Given the description of an element on the screen output the (x, y) to click on. 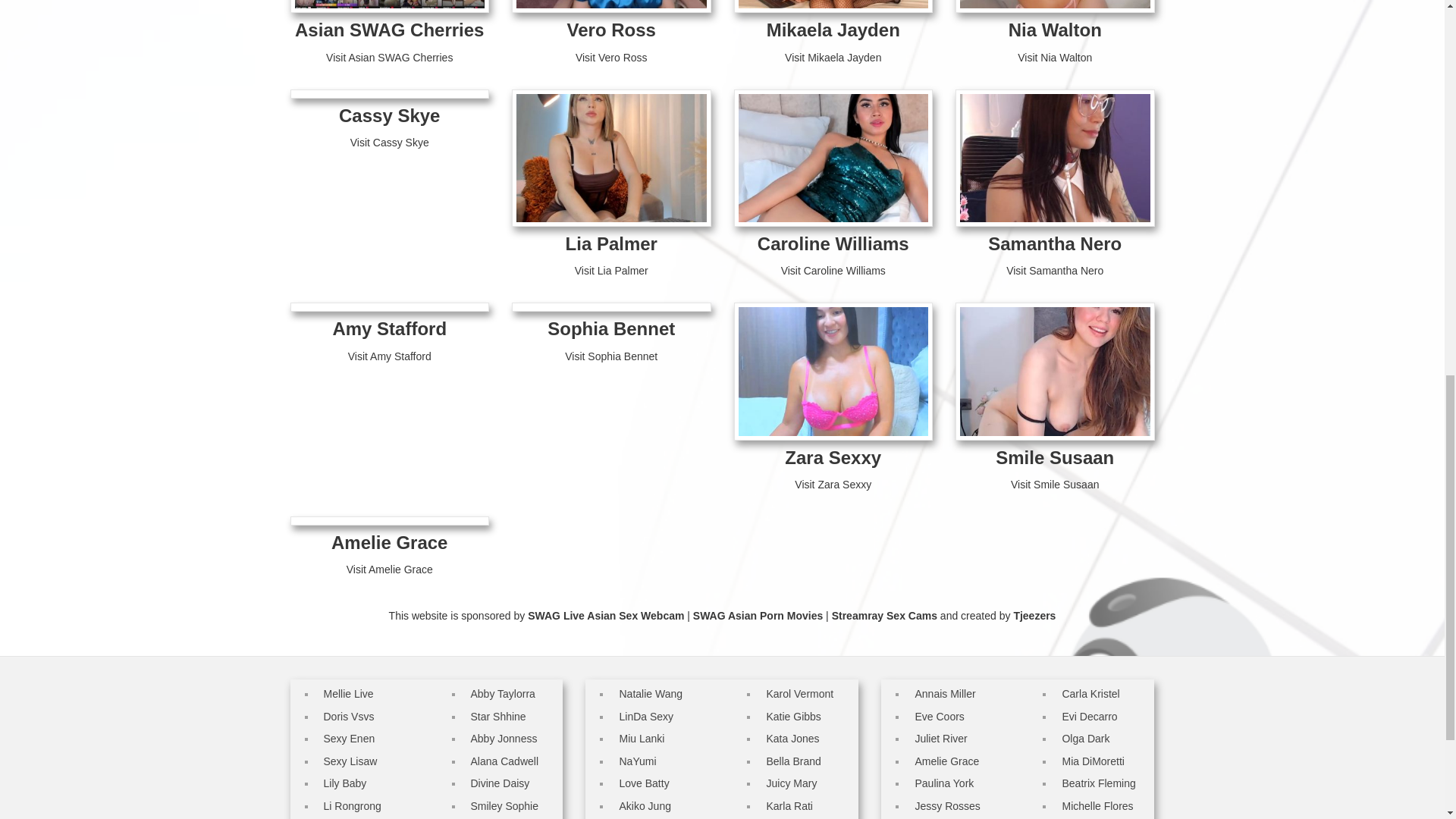
Visit Mikaela Jayden (832, 57)
Visit Vero Ross (611, 57)
Asian SWAG Cherries (389, 29)
Caroline Williams (832, 243)
Mikaela Jayden (833, 29)
Vero Ross (611, 29)
Visit Nia Walton (1054, 57)
Lia Palmer (612, 243)
Nia Walton (1055, 29)
Cassy Skye (389, 115)
Visit Lia Palmer (611, 270)
Visit Asian SWAG Cherries (389, 57)
Visit Cassy Skye (389, 142)
